Given the description of an element on the screen output the (x, y) to click on. 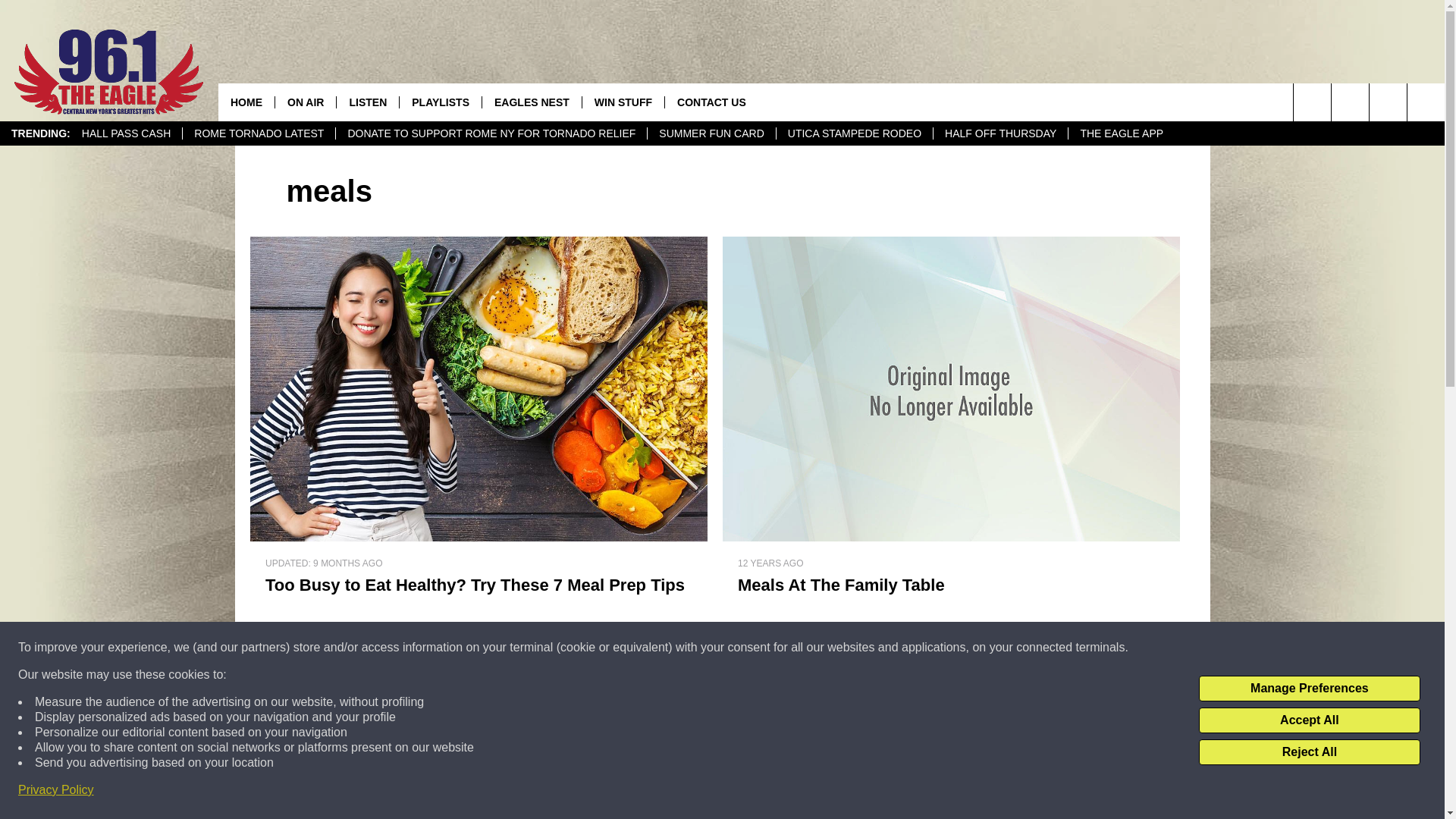
WIN STUFF (621, 102)
ON AIR (305, 102)
ROME TORNADO LATEST (258, 133)
SUMMER FUN CARD (710, 133)
DONATE TO SUPPORT ROME NY FOR TORNADO RELIEF (490, 133)
Privacy Policy (55, 789)
HALL PASS CASH (126, 133)
Reject All (1309, 751)
HALF OFF THURSDAY (1000, 133)
THE EAGLE APP (1120, 133)
LISTEN (367, 102)
PLAYLISTS (439, 102)
Manage Preferences (1309, 688)
HOME (246, 102)
UTICA STAMPEDE RODEO (854, 133)
